Given the description of an element on the screen output the (x, y) to click on. 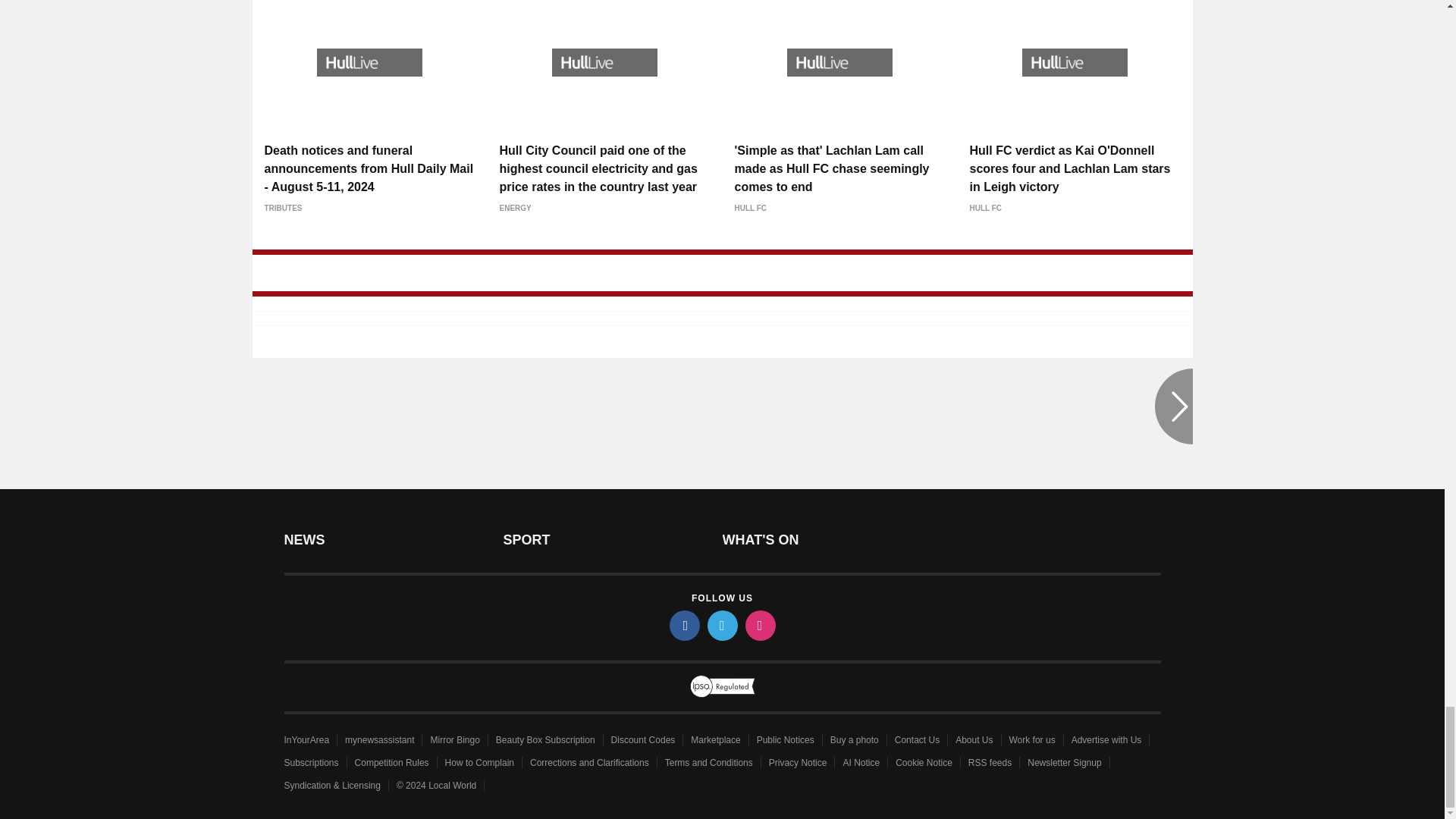
instagram (759, 625)
twitter (721, 625)
facebook (683, 625)
